Given the description of an element on the screen output the (x, y) to click on. 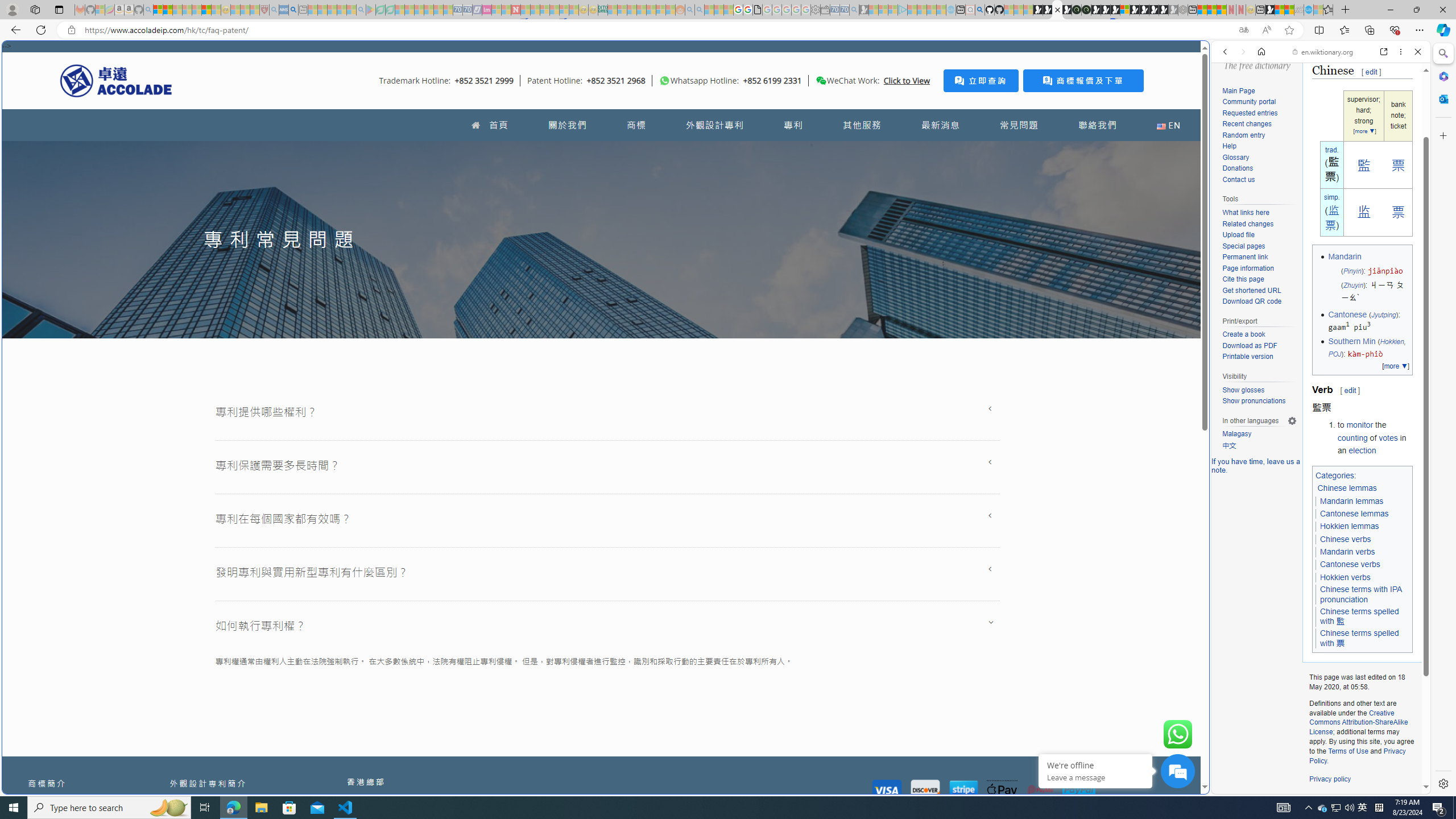
EN (1168, 124)
Search Filter, VIDEOS (1300, 129)
Page information (1247, 267)
Show translate options (1243, 29)
Privacy policy (1329, 779)
Cheap Hotels - Save70.com - Sleeping (467, 9)
Download as PDF (1248, 345)
Terms of Use (1347, 750)
Related changes (1247, 223)
